Given the description of an element on the screen output the (x, y) to click on. 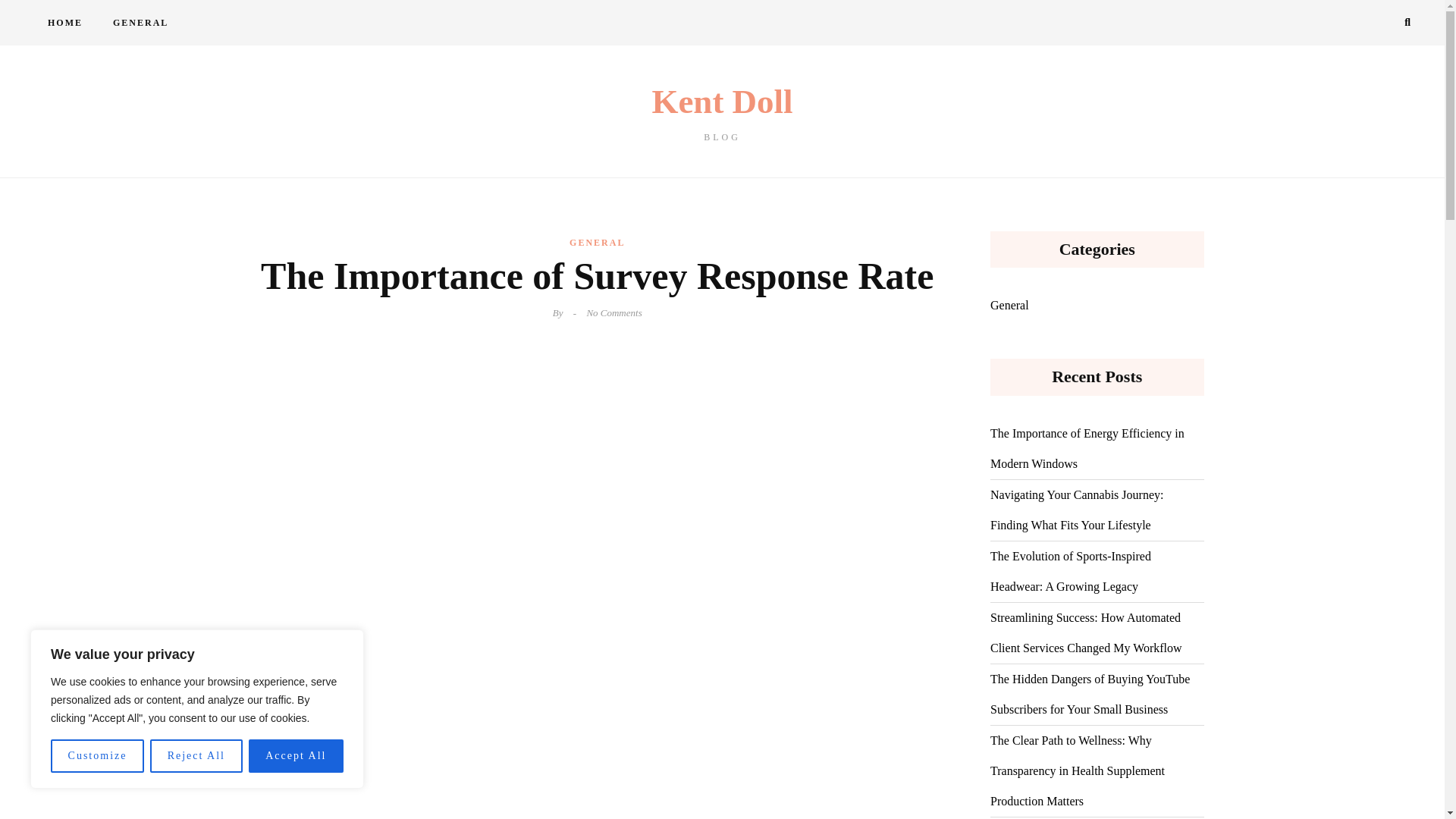
GENERAL (140, 22)
Accept All (721, 112)
HOME (295, 756)
Reject All (64, 22)
Customize (196, 756)
GENERAL (97, 756)
